Given the description of an element on the screen output the (x, y) to click on. 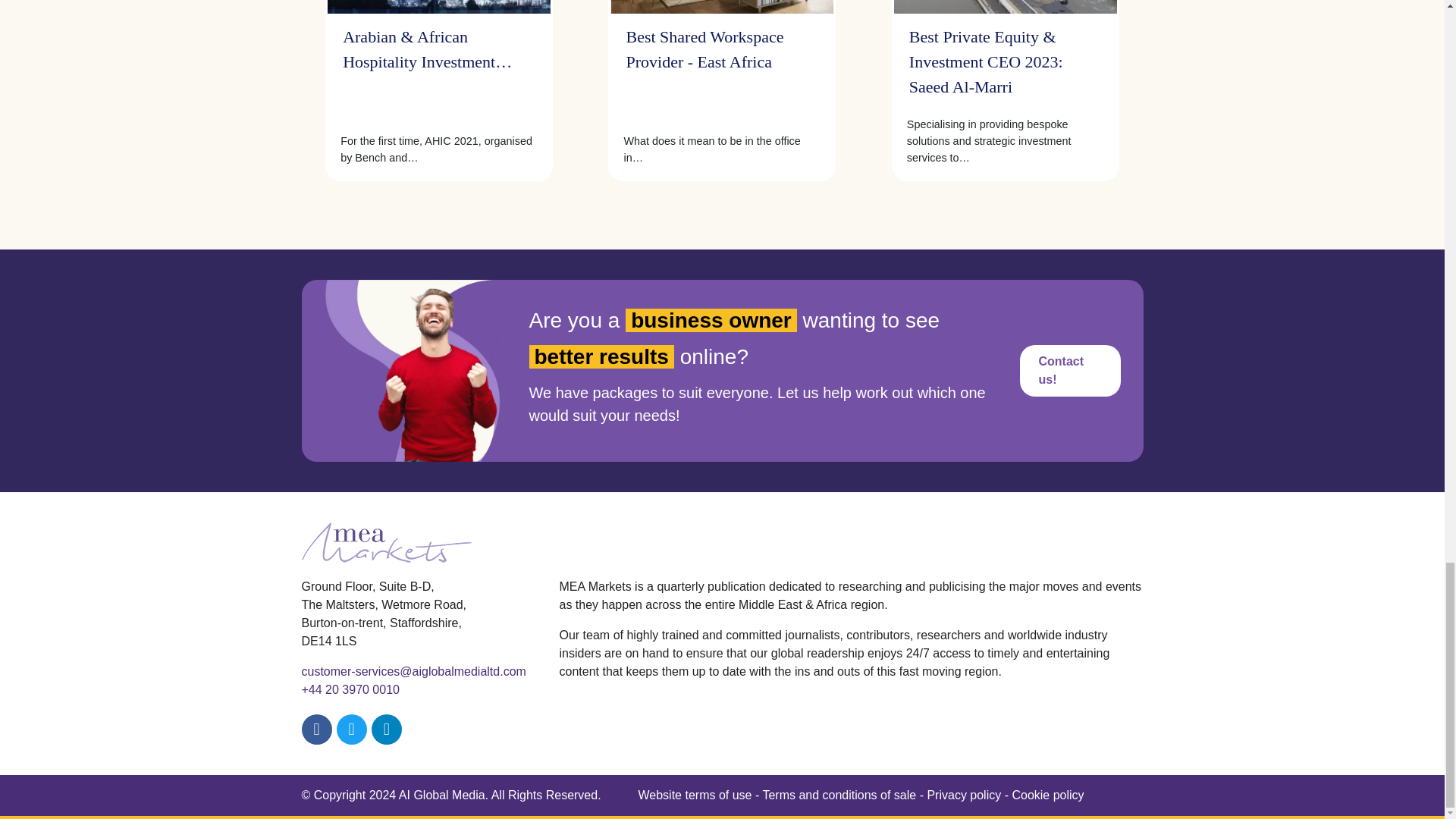
Contact us! (1069, 370)
Best Shared Workspace Provider - East Africa  (721, 63)
